Given the description of an element on the screen output the (x, y) to click on. 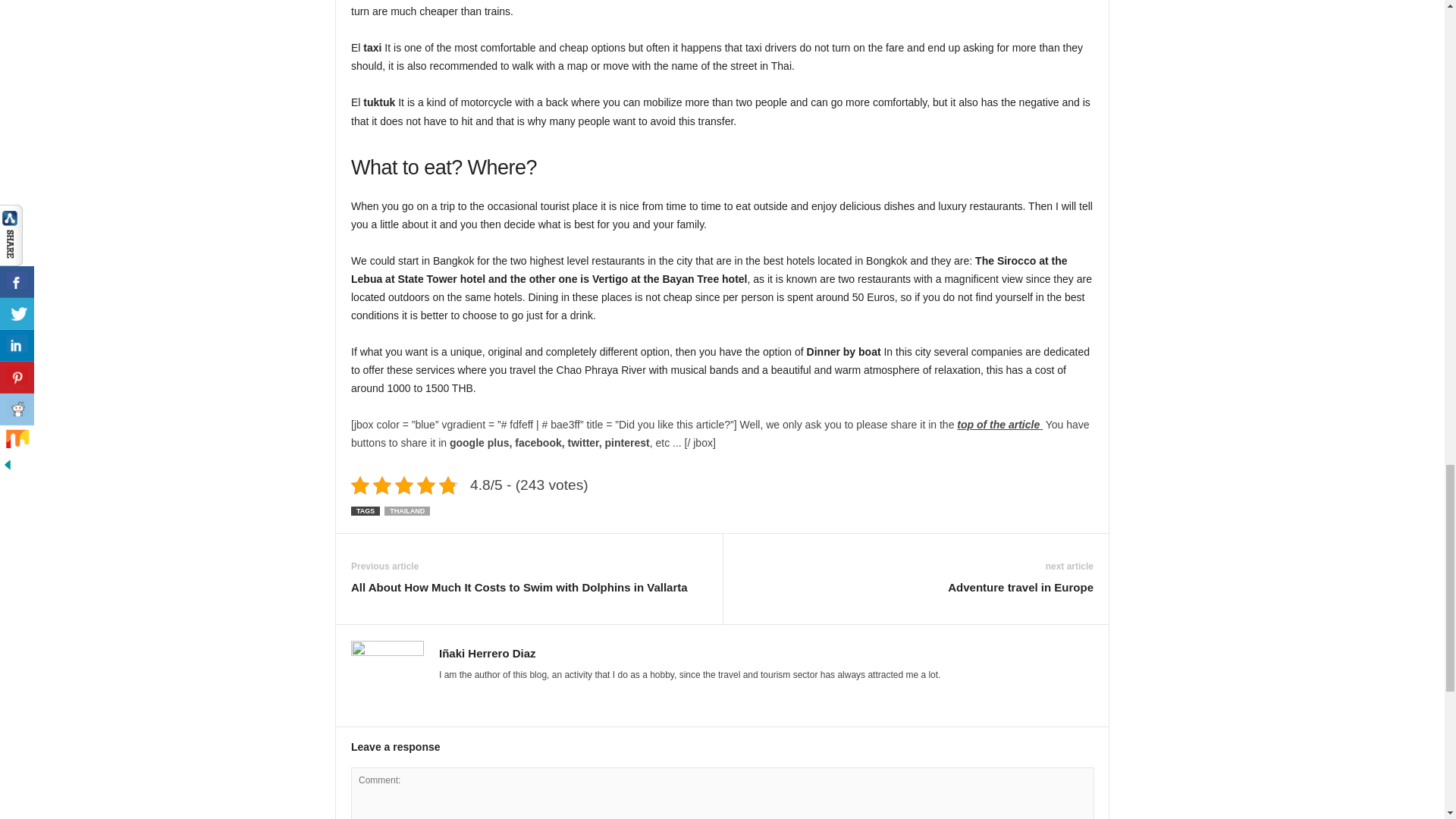
THAILAND (406, 510)
Adventure travel in Europe (1020, 587)
